Given the description of an element on the screen output the (x, y) to click on. 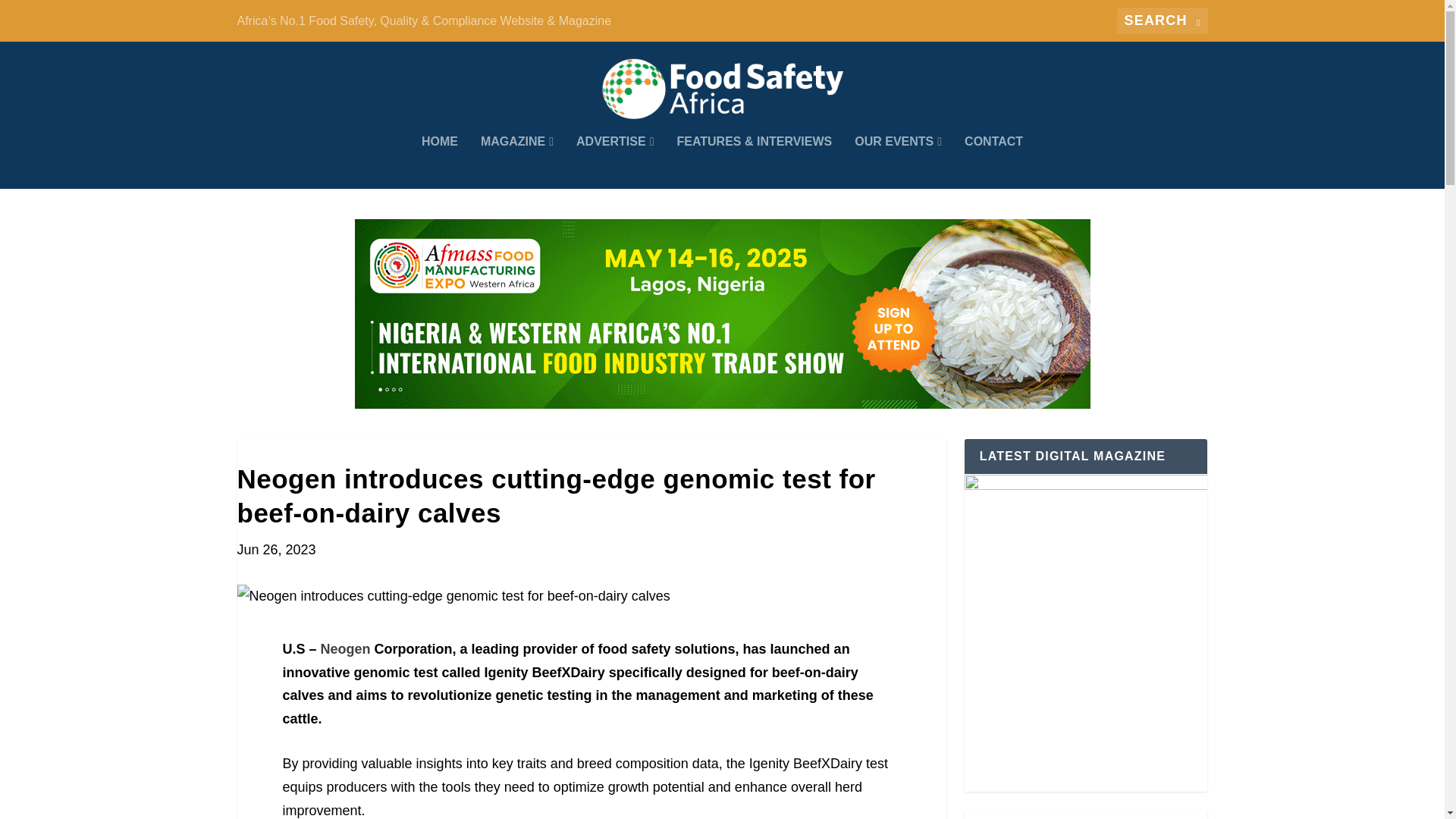
Search for: (1161, 20)
ADVERTISE (614, 162)
OUR EVENTS (898, 162)
MAGAZINE (516, 162)
Neogen (345, 648)
CONTACT (993, 162)
